Given the description of an element on the screen output the (x, y) to click on. 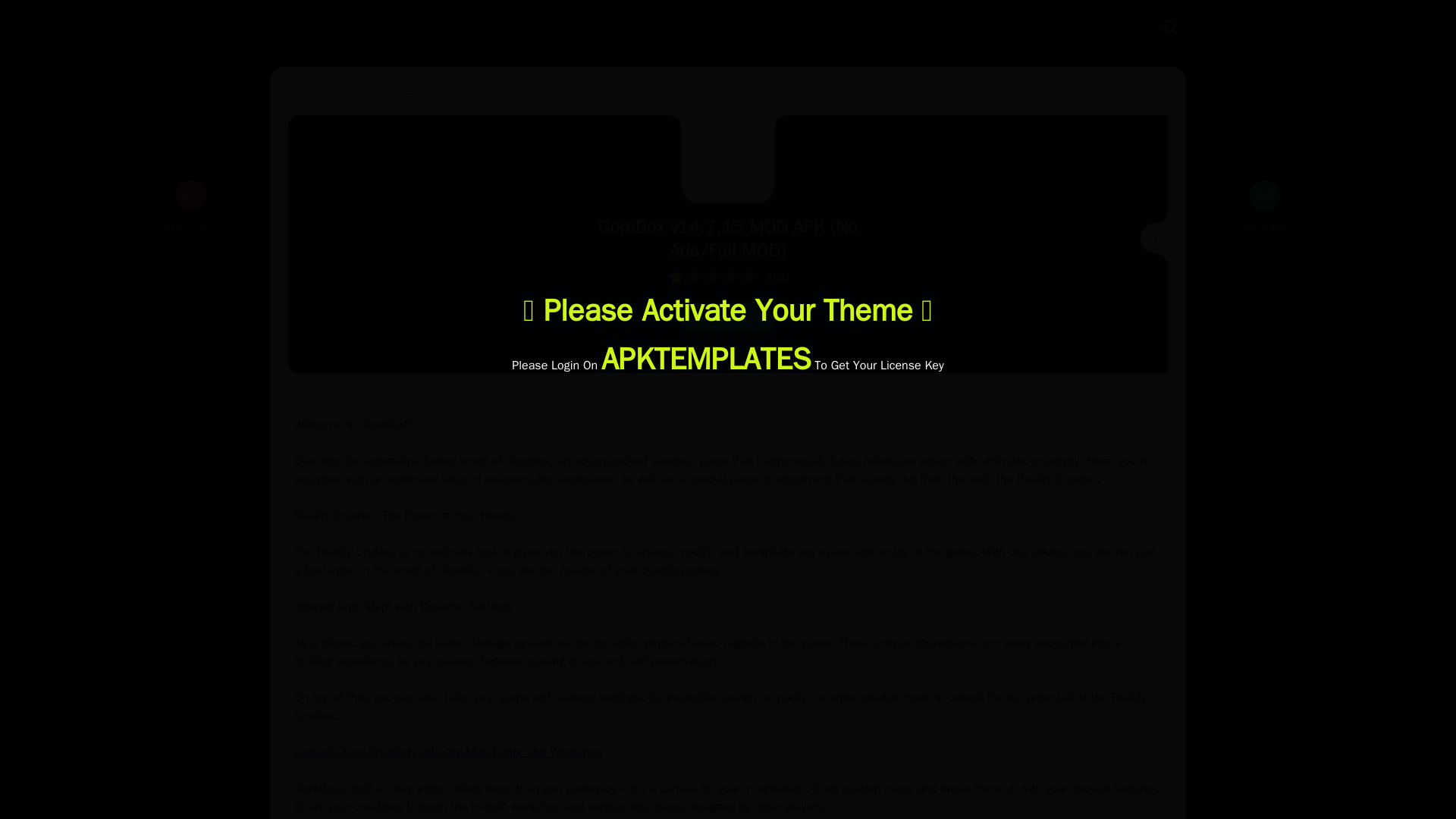
Poor (693, 277)
iOS Apps (1097, 27)
Useless (675, 277)
Next Page (1264, 236)
Excellent (748, 277)
APKOMTK.COM (311, 27)
Fair (711, 277)
Good (729, 277)
Games (501, 27)
Previous Page (191, 236)
